Given the description of an element on the screen output the (x, y) to click on. 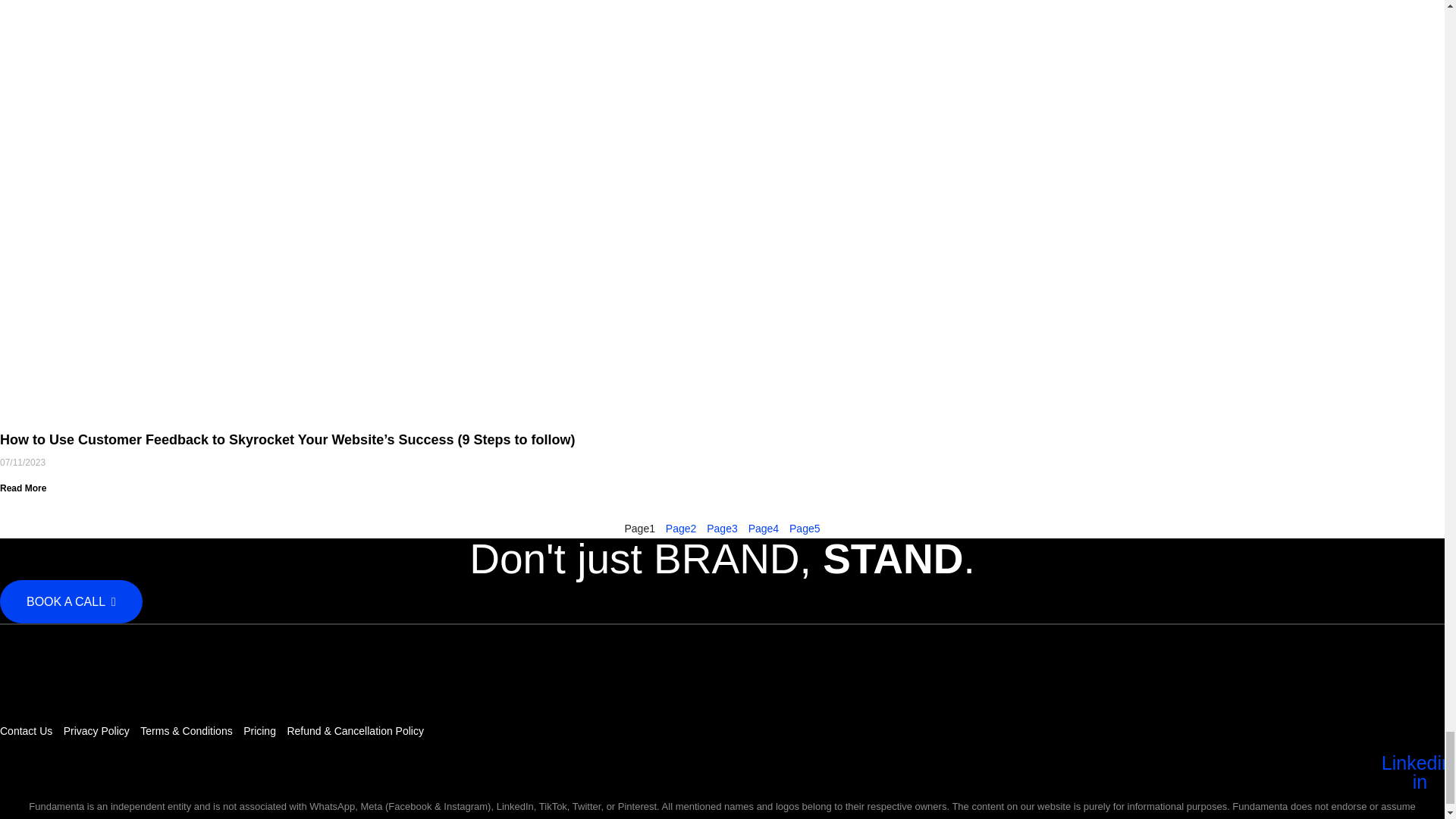
Read More (23, 488)
Page2 (681, 528)
Page3 (722, 528)
